Given the description of an element on the screen output the (x, y) to click on. 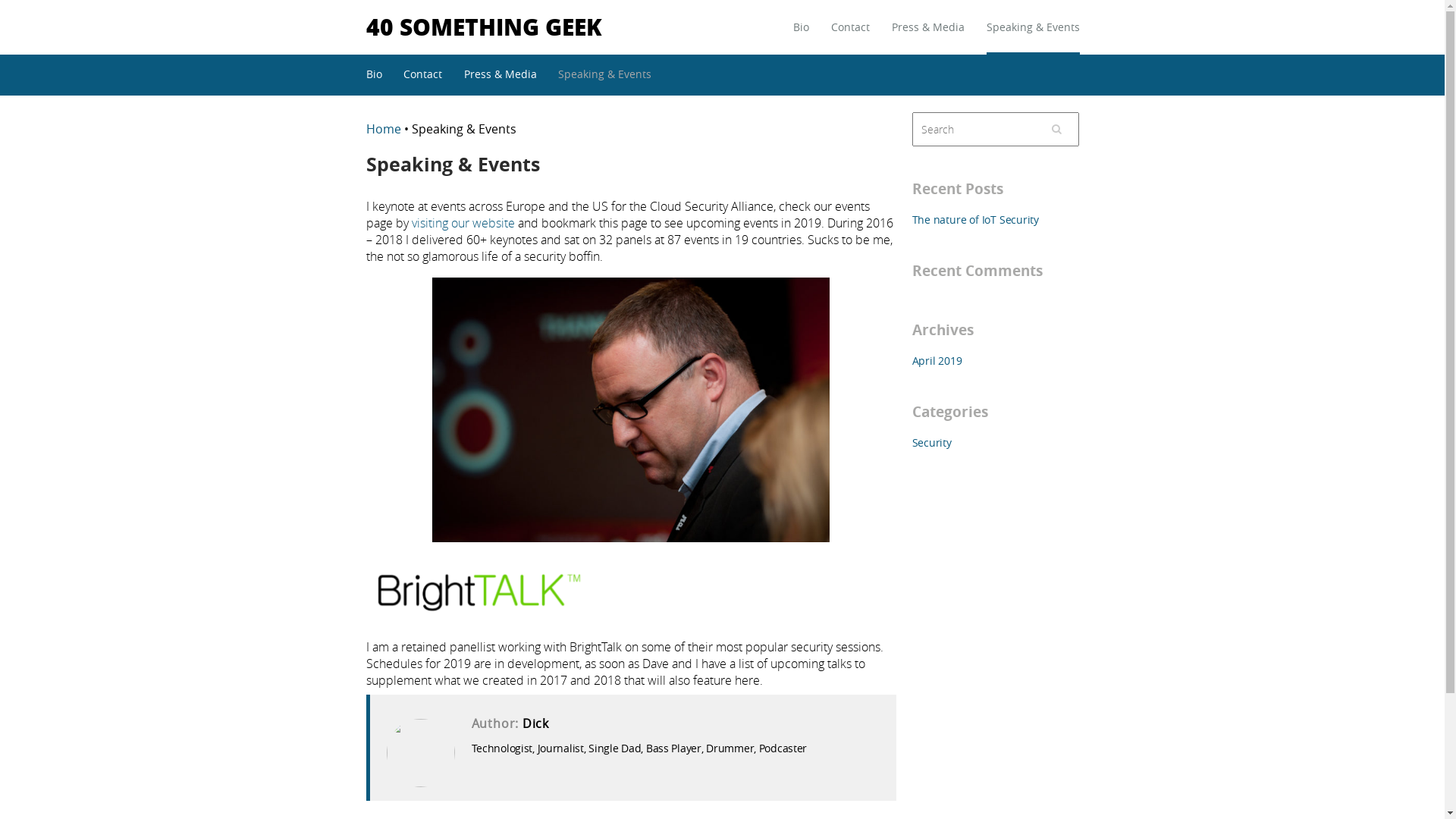
April 2019 Element type: text (936, 360)
Bio Element type: text (373, 73)
Bio Element type: text (801, 36)
visiting our website Element type: text (462, 222)
40 SOMETHING GEEK Element type: text (483, 25)
Speaking & Events Element type: text (604, 73)
Contact Element type: text (850, 36)
Speaking & Events Element type: text (1032, 36)
Home Element type: text (384, 127)
Press & Media Element type: text (500, 73)
The nature of IoT Security Element type: text (974, 219)
Press & Media Element type: text (927, 36)
Security Element type: text (930, 442)
Contact Element type: text (422, 73)
